Given the description of an element on the screen output the (x, y) to click on. 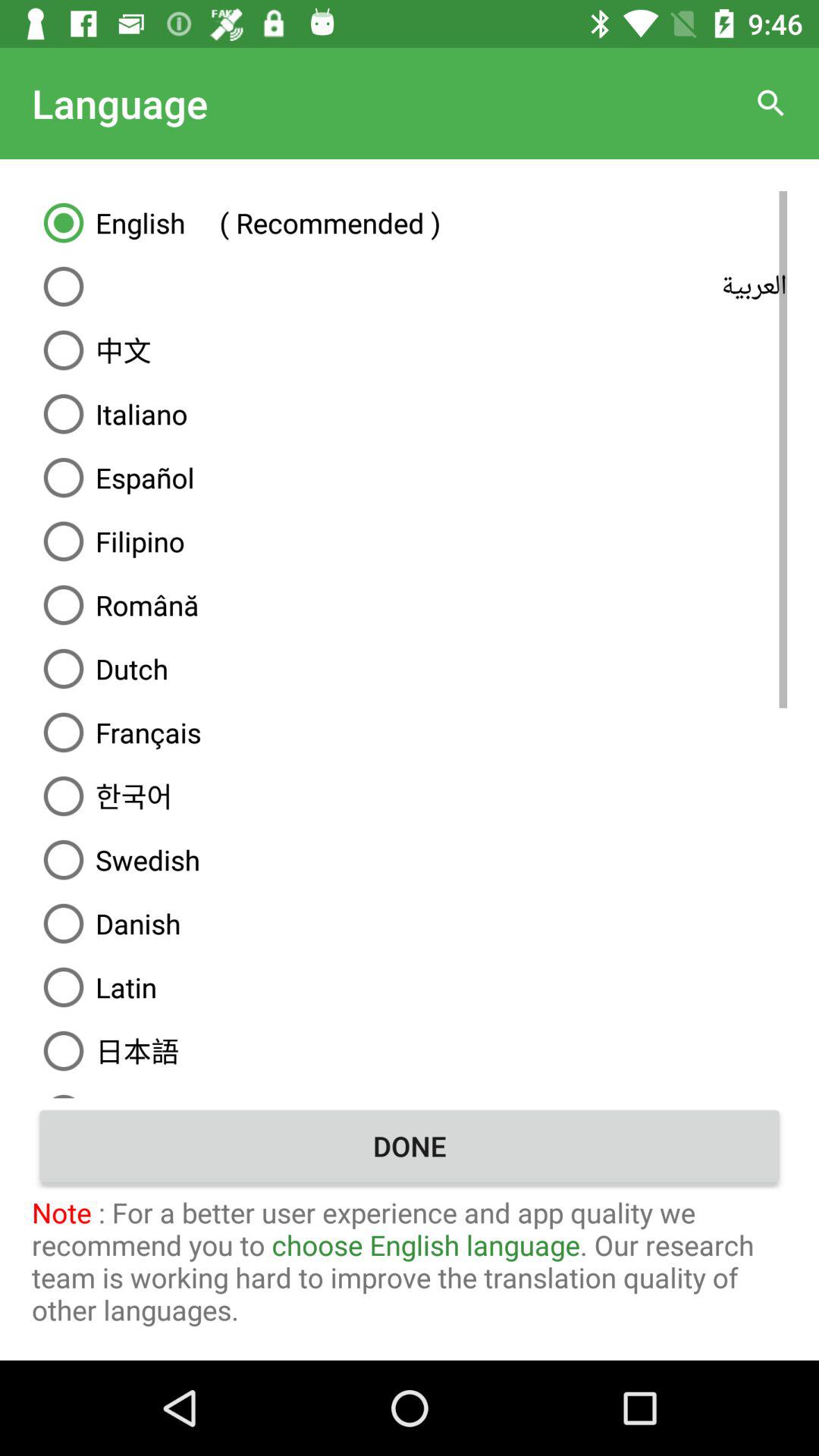
turn on the done icon (409, 1145)
